Given the description of an element on the screen output the (x, y) to click on. 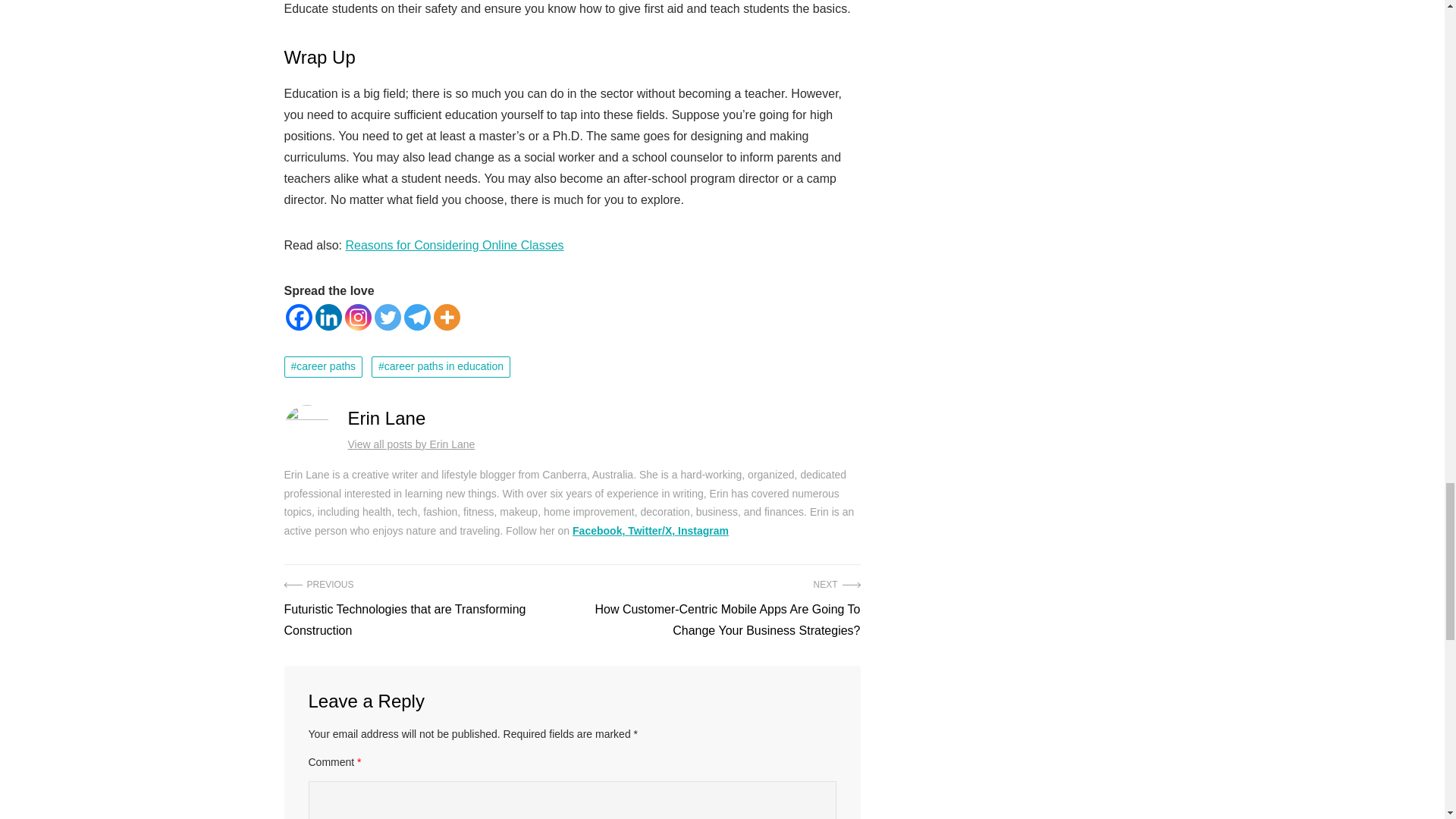
Facebook, (599, 530)
Telegram (416, 316)
View all posts by Erin Lane (410, 444)
career paths (322, 366)
More (446, 316)
Instagram (703, 530)
Reasons for Considering Online Classes (454, 245)
Facebook (298, 316)
career paths in education (441, 366)
Linkedin (328, 316)
